Given the description of an element on the screen output the (x, y) to click on. 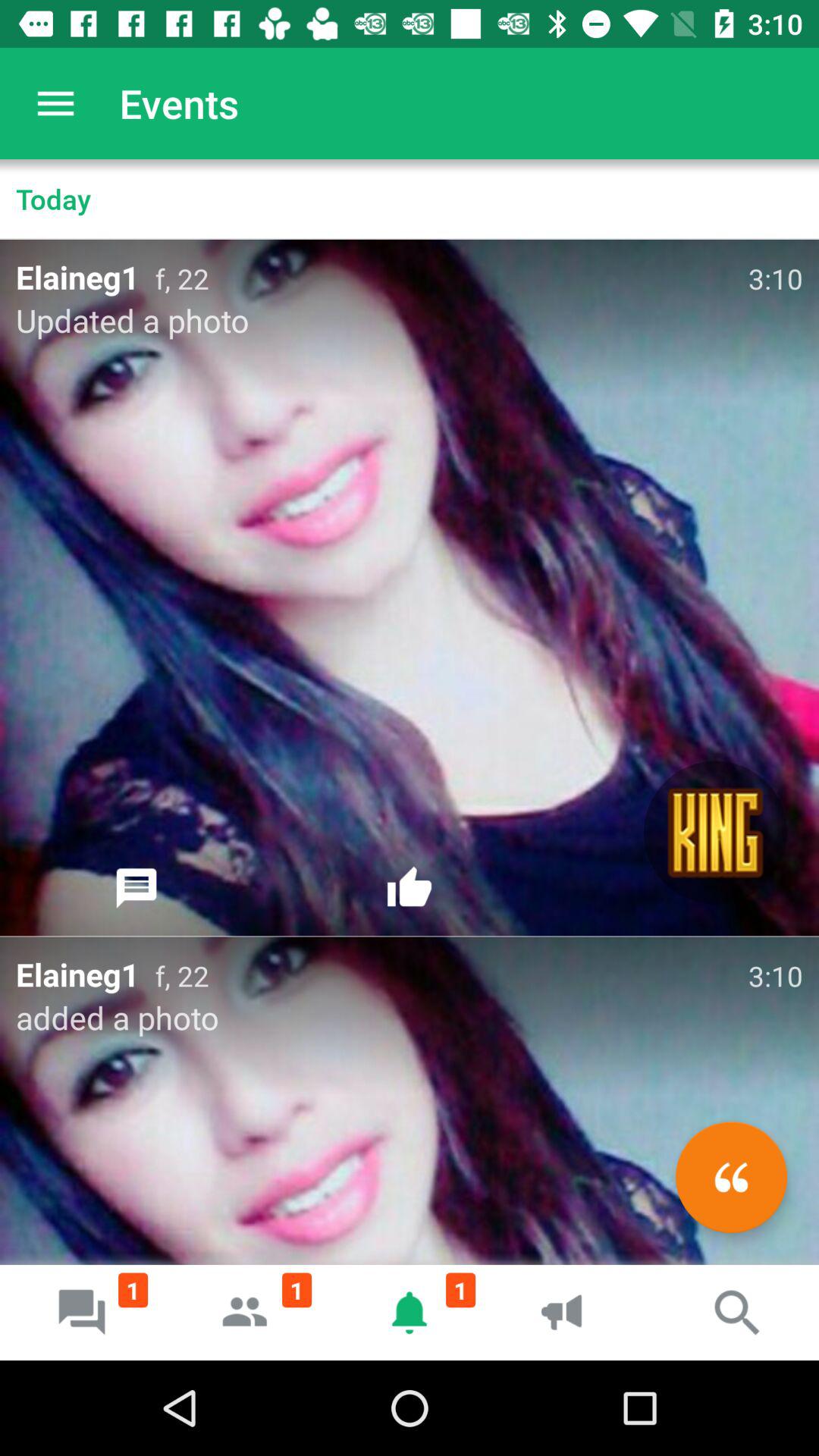
like the post (409, 888)
